Given the description of an element on the screen output the (x, y) to click on. 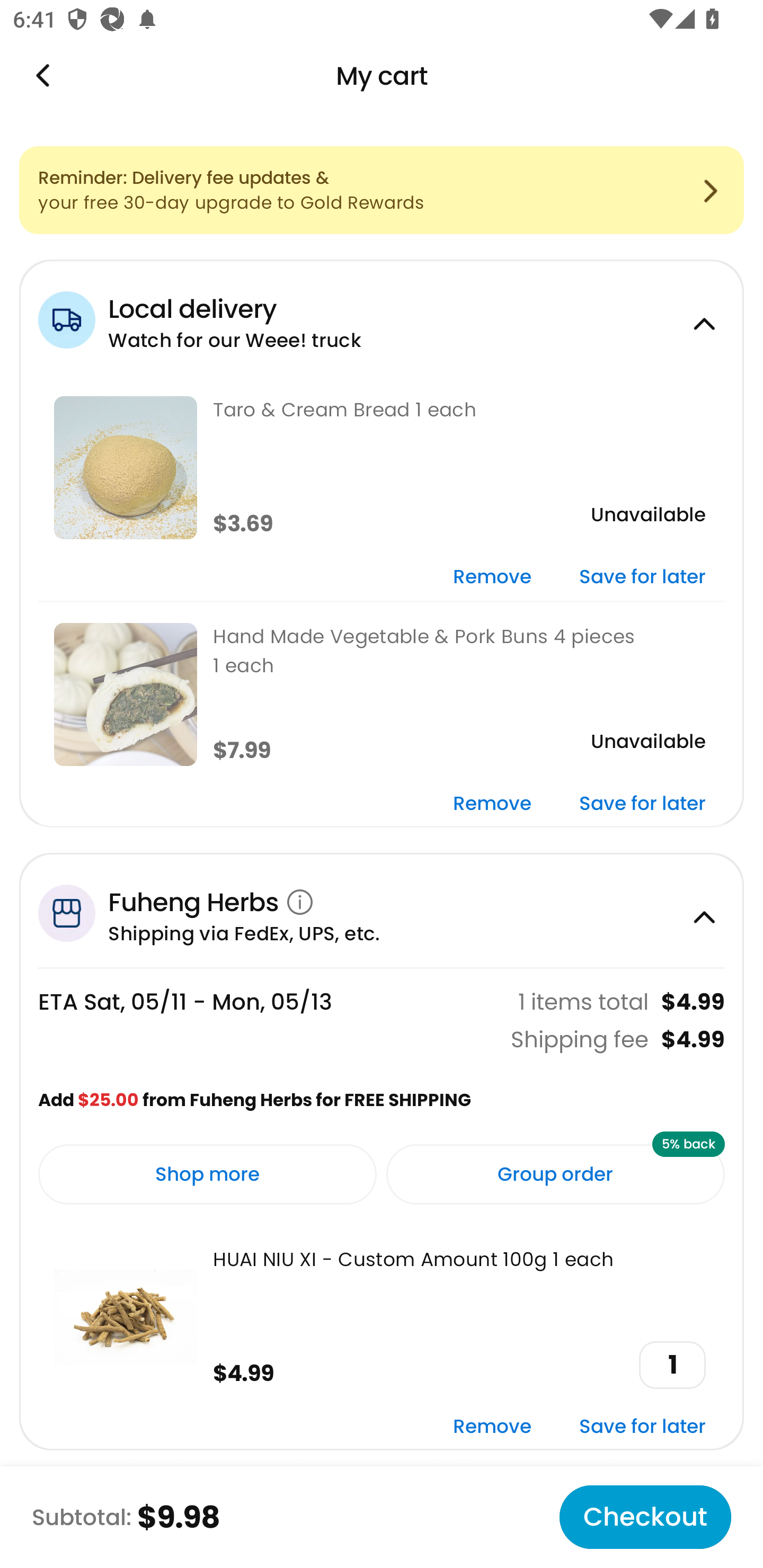
Local delivery Watch for our Weee! truck (381, 317)
Remove (491, 577)
Save for later (642, 577)
Remove (491, 804)
Save for later (642, 804)
Fuheng Herbs Shipping via FedEx, UPS, etc. (381, 909)
Shop more (207, 1174)
Group order (555, 1174)
1 (672, 1364)
Remove (491, 1427)
Save for later (642, 1427)
Checkout (644, 1516)
